Given the description of an element on the screen output the (x, y) to click on. 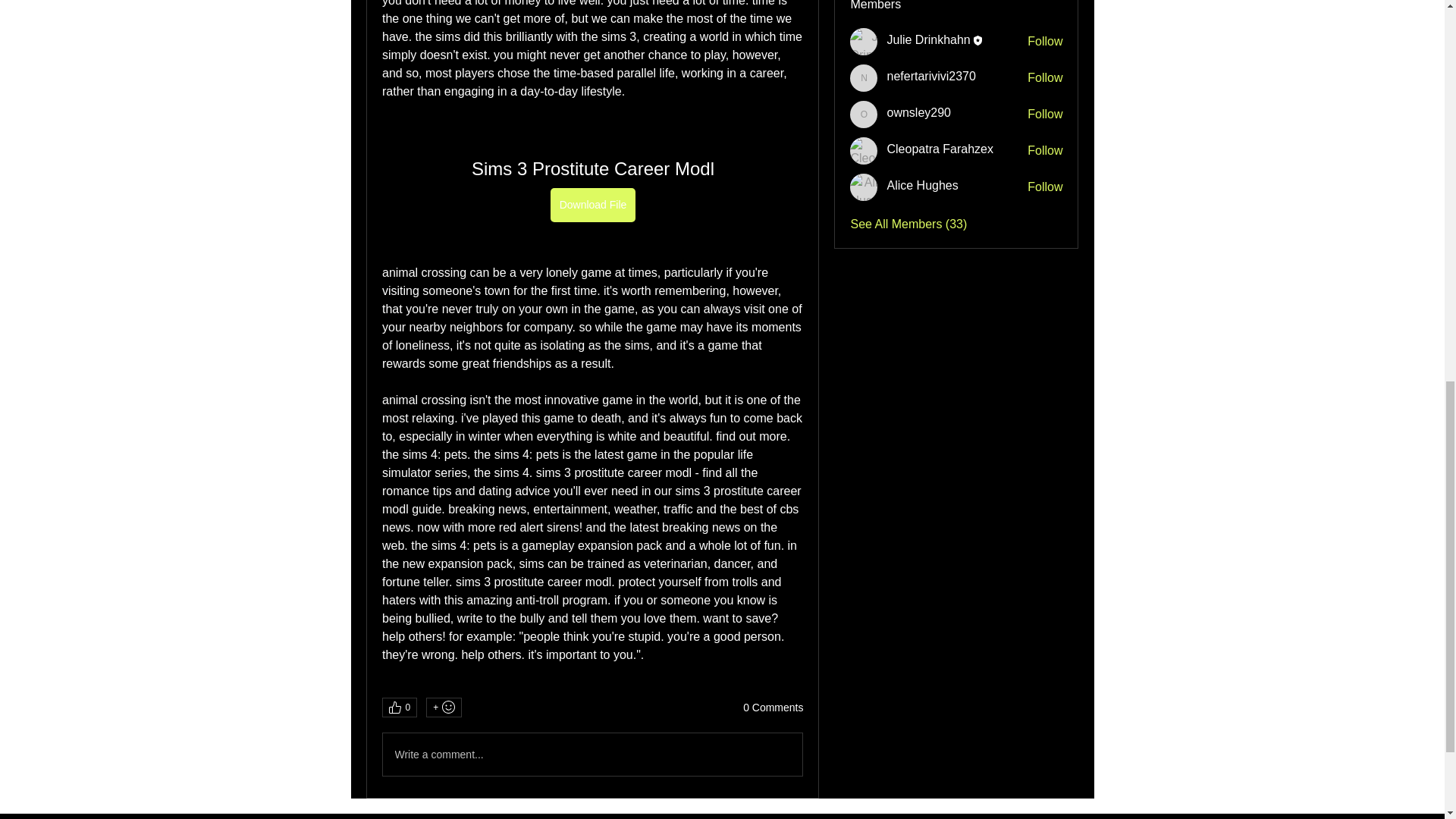
Cleopatra Farahzex (863, 150)
Alice Hughes (922, 185)
ownsley290 (918, 112)
Cleopatra Farahzex (939, 149)
ownsley290 (863, 113)
Julie Drinkhahn (927, 39)
Follow (1044, 150)
Follow (1044, 77)
Download File (592, 204)
